Given the description of an element on the screen output the (x, y) to click on. 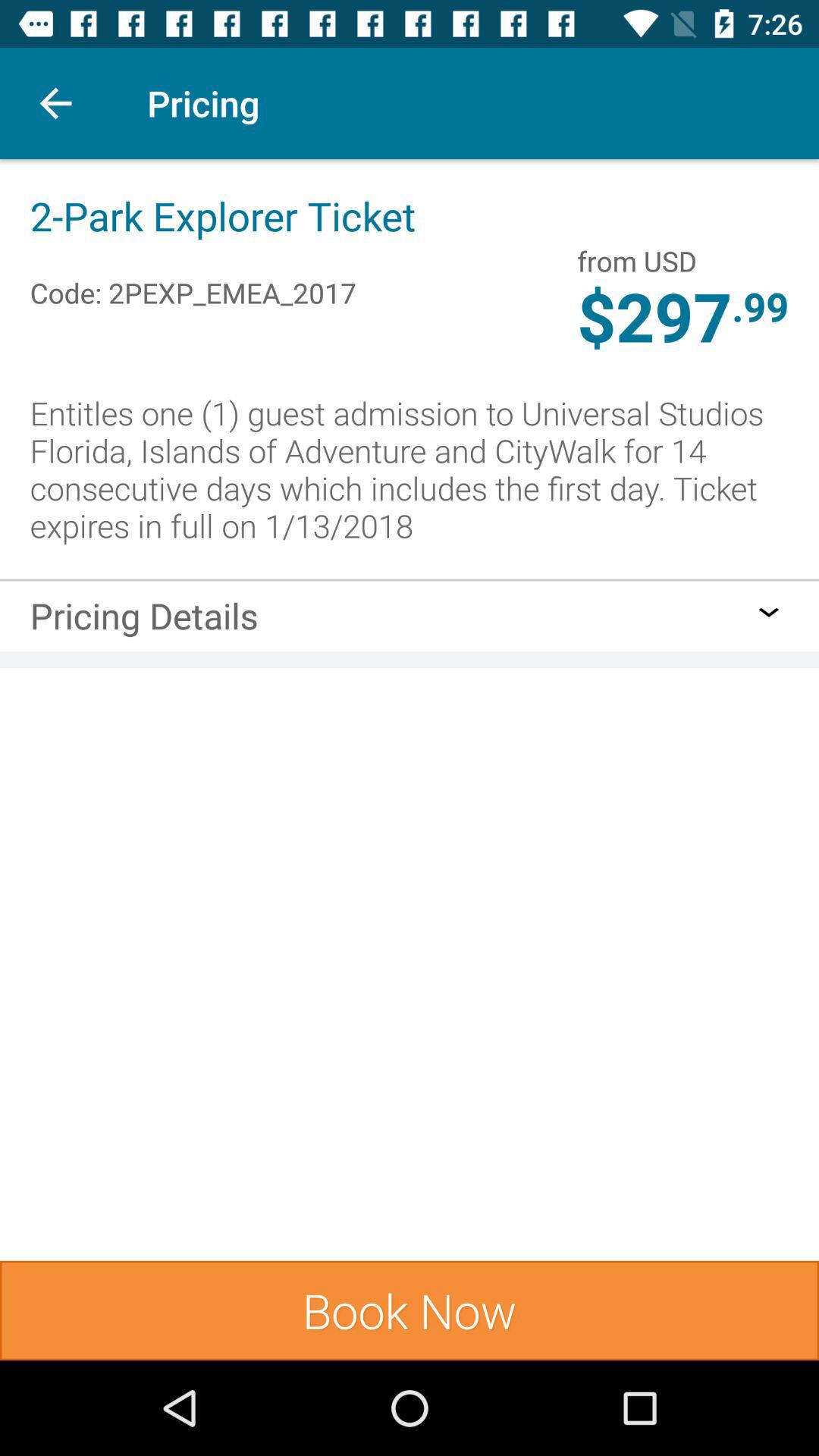
select code: 2pexp_emea_2017 (193, 276)
